Given the description of an element on the screen output the (x, y) to click on. 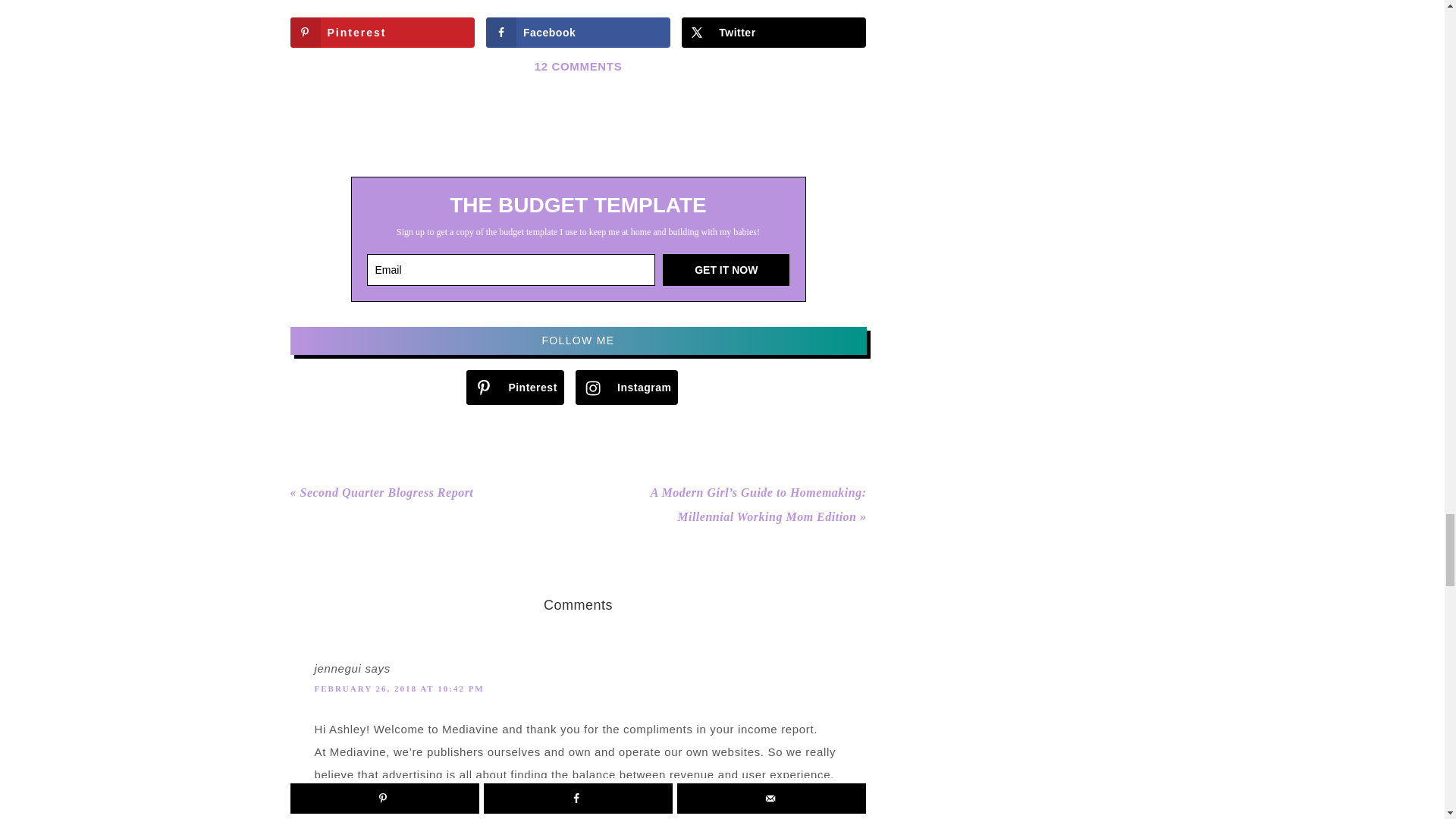
Follow on Pinterest (514, 387)
Share on Facebook (577, 32)
Save to Pinterest (381, 32)
Share on X (773, 32)
